Given the description of an element on the screen output the (x, y) to click on. 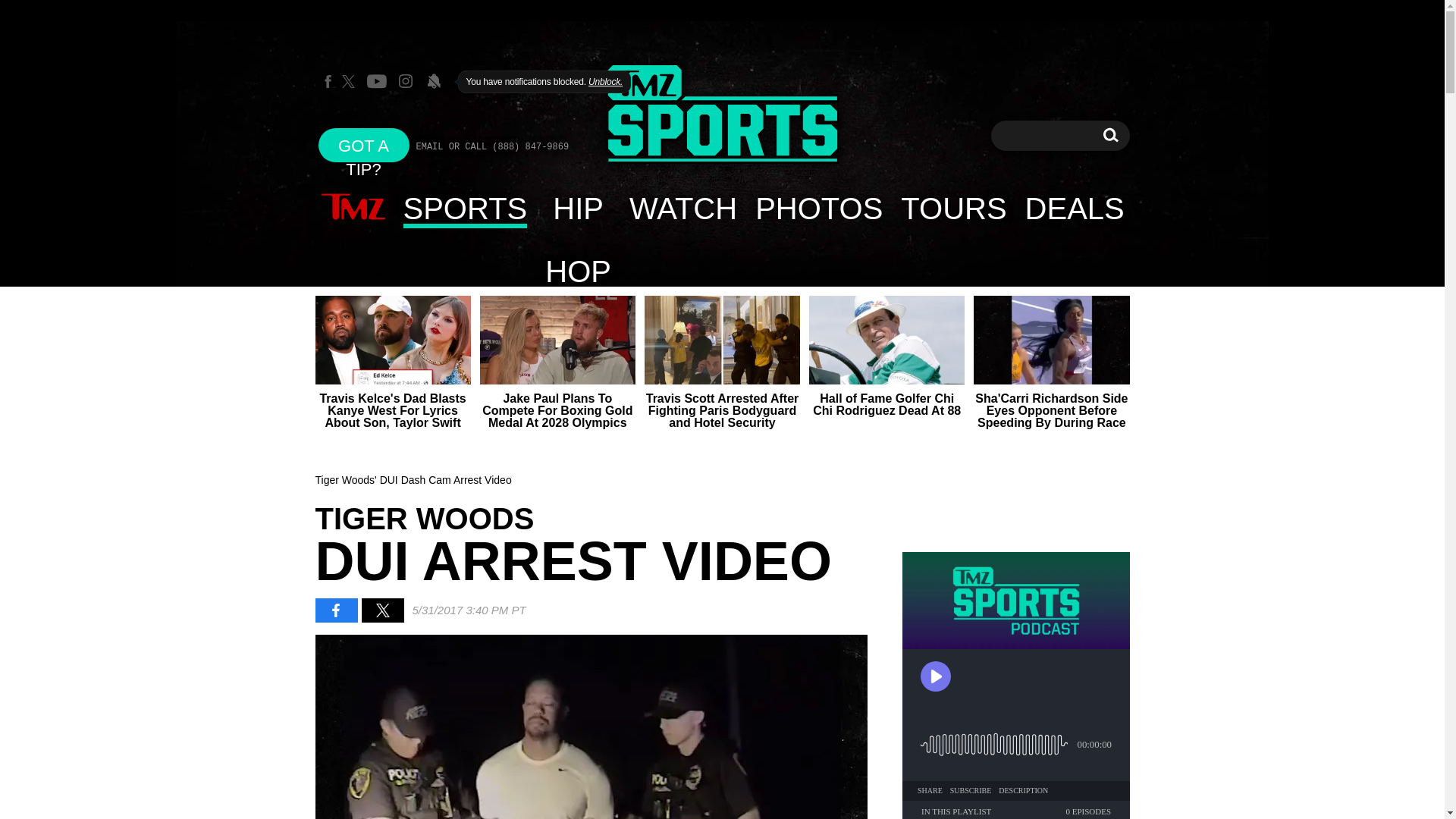
NEWS (353, 207)
PHOTOS (818, 207)
TMZ Sports (722, 113)
DEALS (1075, 207)
GOT A TIP? (363, 144)
Search (1110, 134)
TMZ Sports (722, 115)
SPORTS (465, 207)
HIP HOP (577, 207)
